Given the description of an element on the screen output the (x, y) to click on. 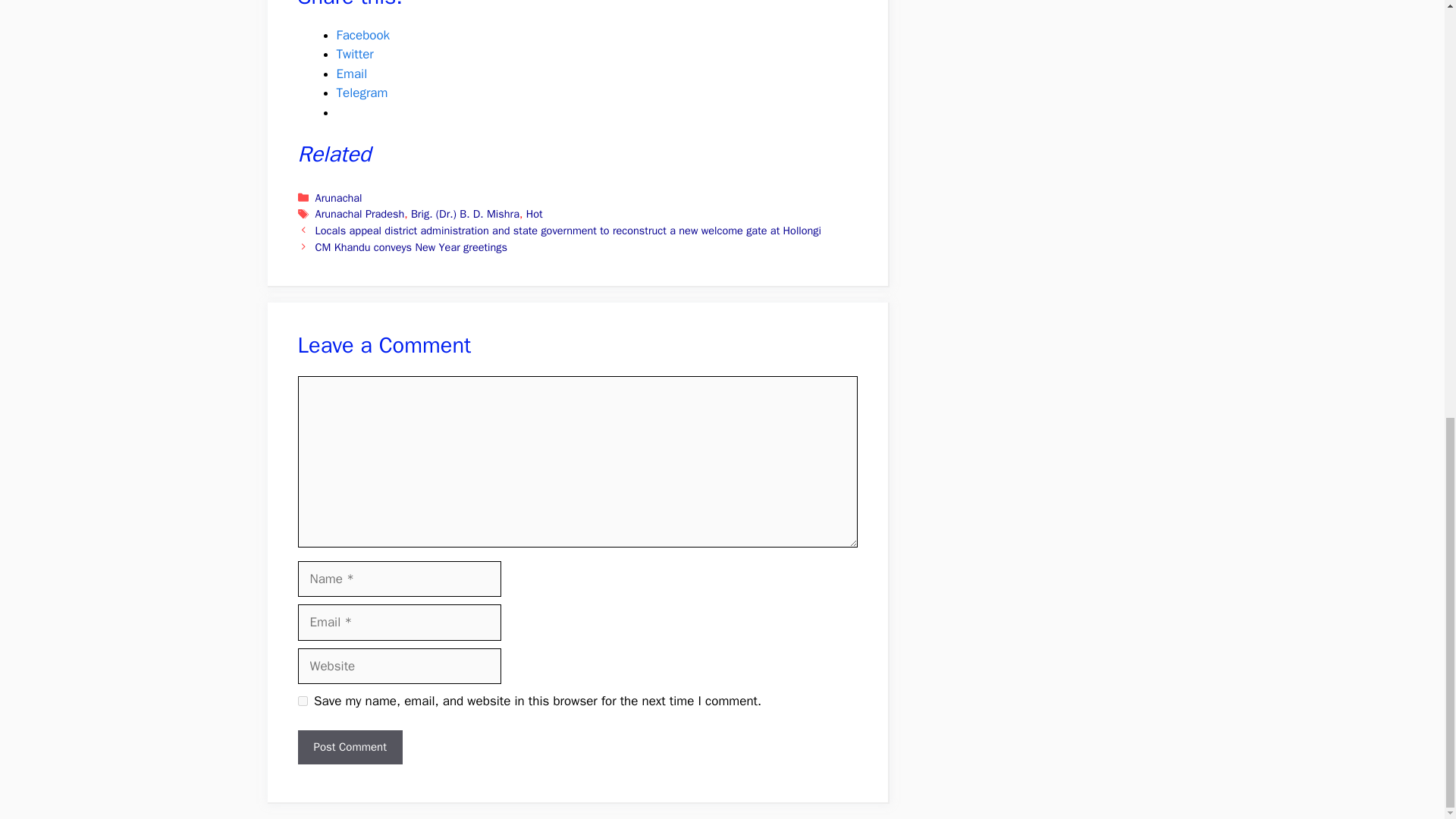
Twitter (355, 53)
Post Comment (349, 747)
Arunachal Pradesh (359, 213)
Click to email a link to a friend (352, 73)
Click to share on Facebook (363, 35)
Arunachal (338, 197)
Hot (534, 213)
yes (302, 700)
Email (352, 73)
Click to share on Telegram (362, 92)
Click to share on Twitter (355, 53)
CM Khandu conveys New Year greetings (410, 246)
Post Comment (349, 747)
Facebook (363, 35)
